Given the description of an element on the screen output the (x, y) to click on. 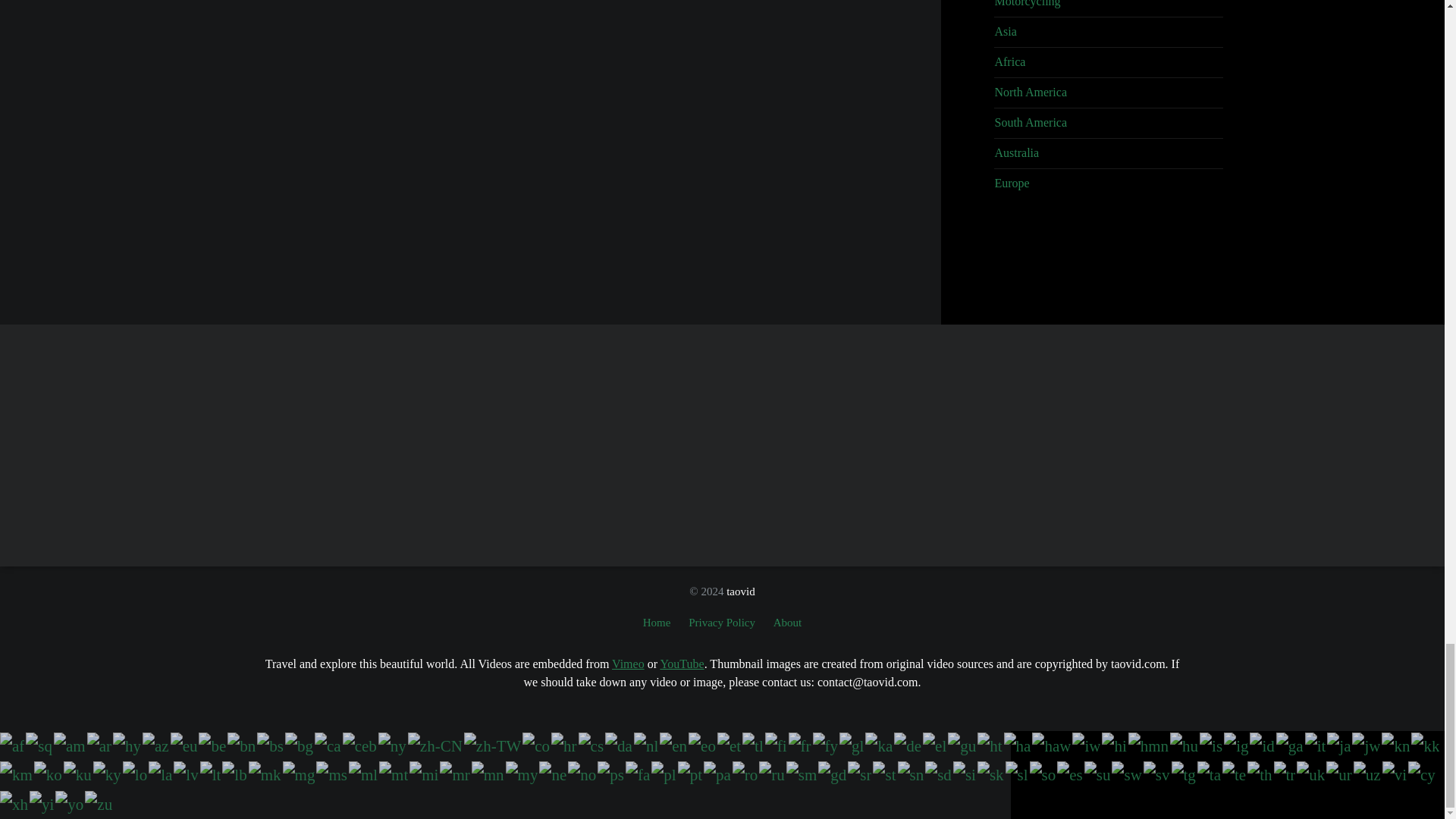
Amharic (70, 744)
Bosnian (271, 744)
Albanian (39, 744)
Bulgarian (299, 744)
Afrikaans (13, 744)
Arabic (100, 744)
Basque (184, 744)
Cebuano (360, 744)
Belarusian (212, 744)
Armenian (127, 744)
Azerbaijani (156, 744)
Bengali (242, 744)
Catalan (328, 744)
